Given the description of an element on the screen output the (x, y) to click on. 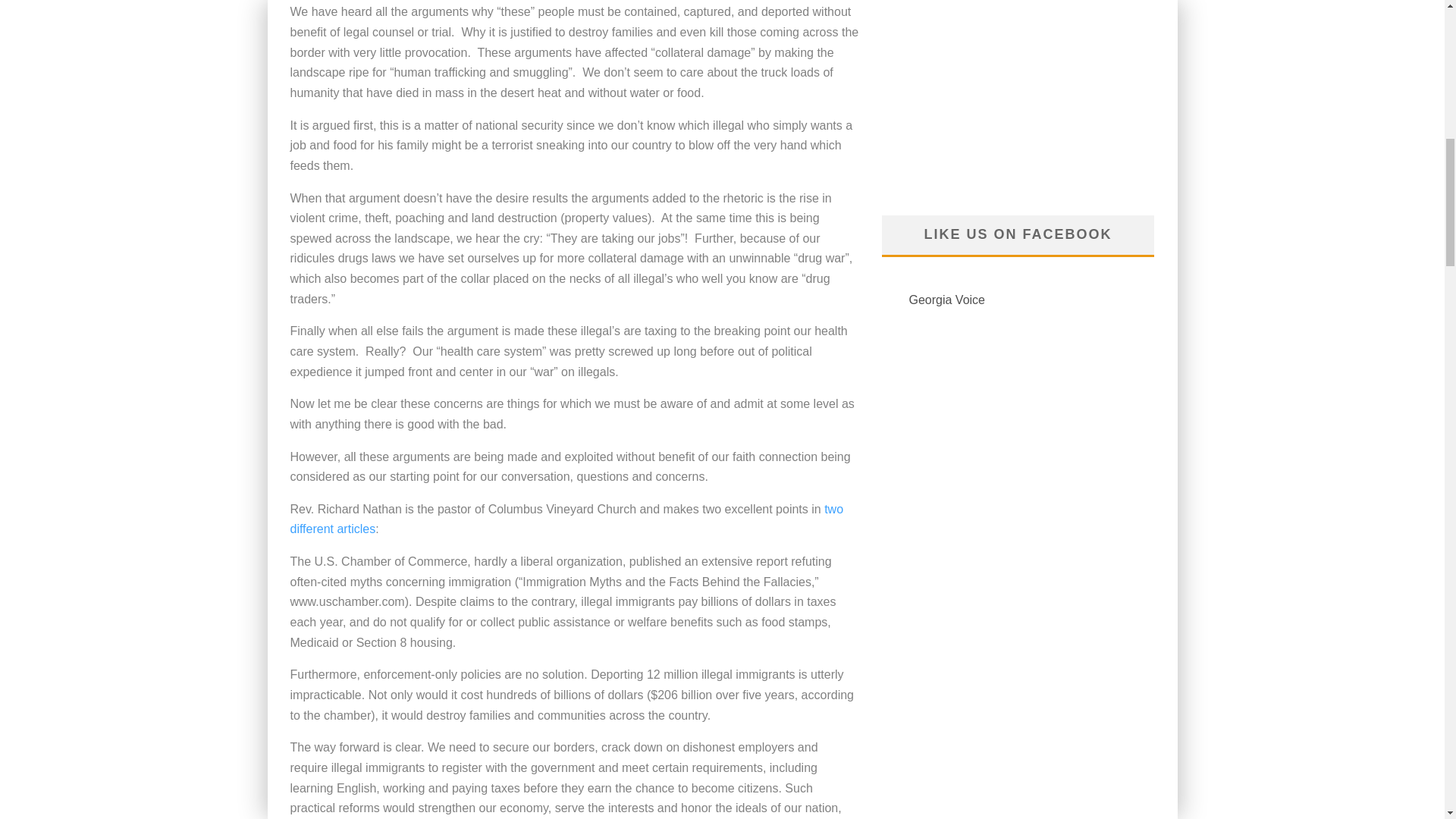
Rev. Richard Nathan (566, 519)
